Given the description of an element on the screen output the (x, y) to click on. 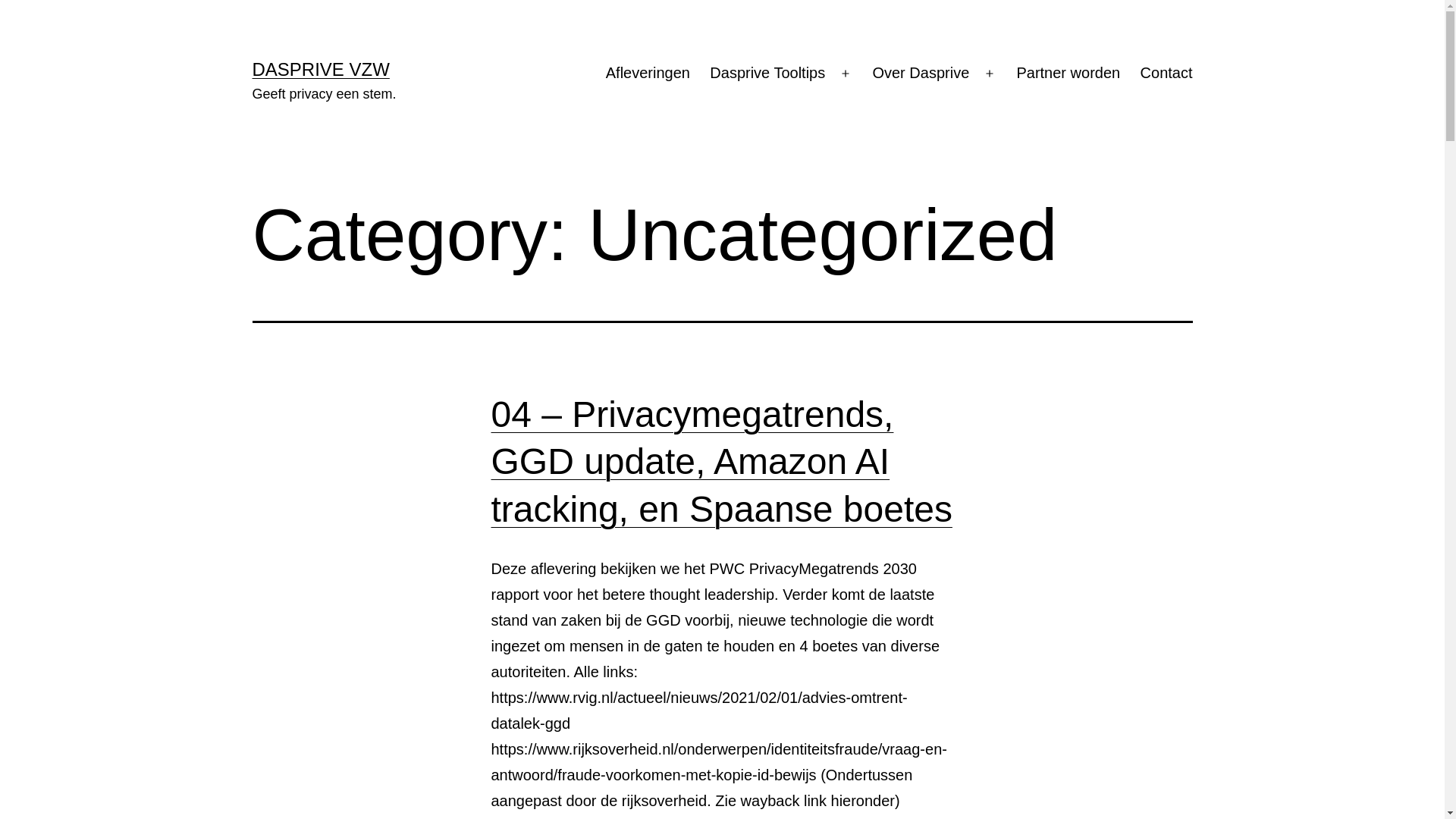
Afleveringen Element type: text (648, 73)
Open menu Element type: text (989, 73)
DASPRIVE VZW Element type: text (320, 69)
Dasprive Tooltips Element type: text (766, 73)
Open menu Element type: text (845, 73)
Contact Element type: text (1165, 73)
Over Dasprive Element type: text (920, 73)
Partner worden Element type: text (1067, 73)
